Given the description of an element on the screen output the (x, y) to click on. 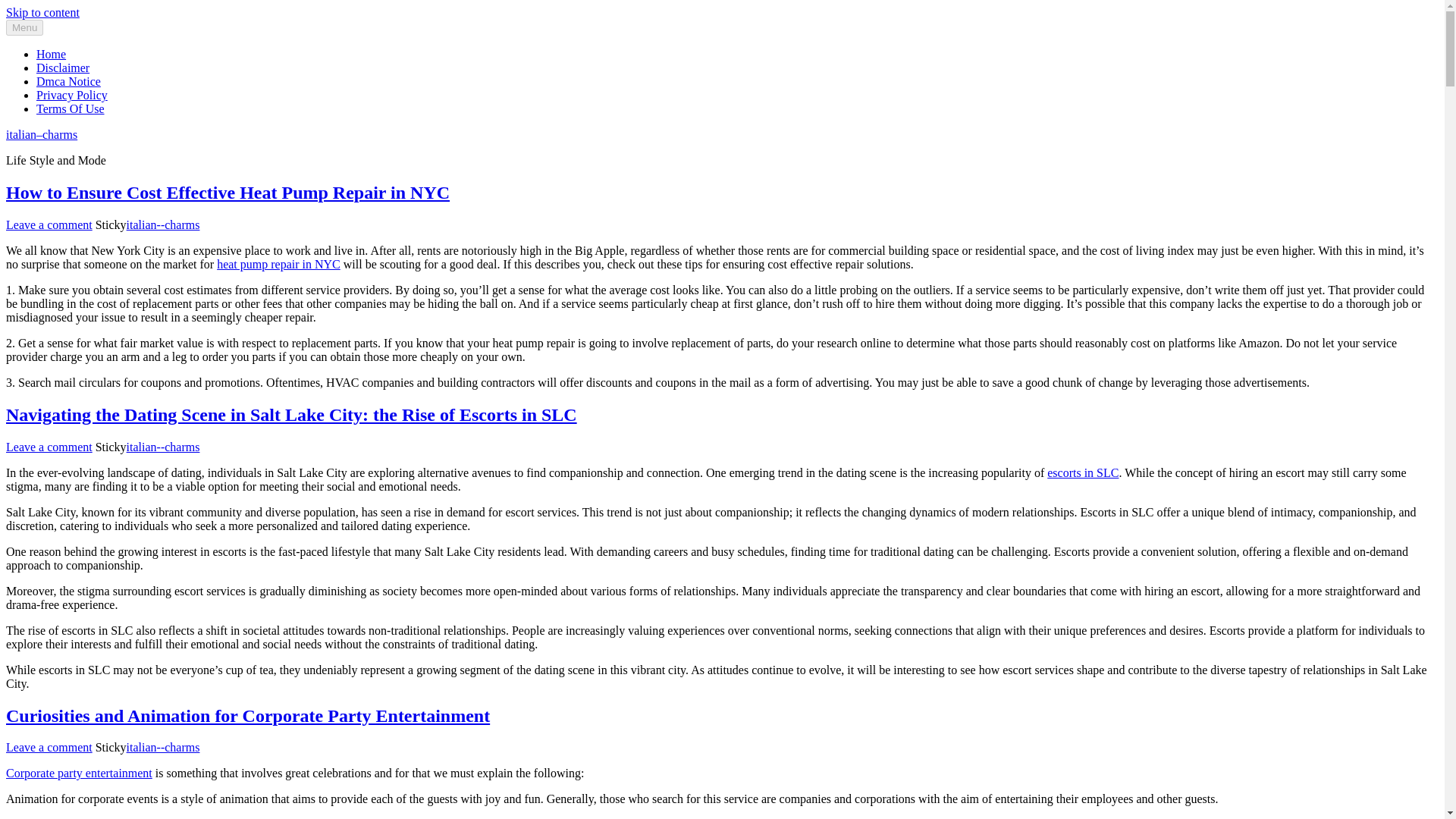
View all posts by italian--charms (163, 224)
Dmca Notice (68, 81)
Curiosities and Animation for Corporate Party Entertainment (247, 715)
Leave a comment (49, 747)
Terms Of Use (70, 108)
italian--charms (163, 224)
View all posts by italian--charms (163, 747)
Home (50, 53)
Menu (24, 27)
Leave a comment (49, 446)
escorts in SLC (1082, 472)
Skip to content (42, 11)
View all posts by italian--charms (163, 446)
Privacy Policy (71, 94)
